Given the description of an element on the screen output the (x, y) to click on. 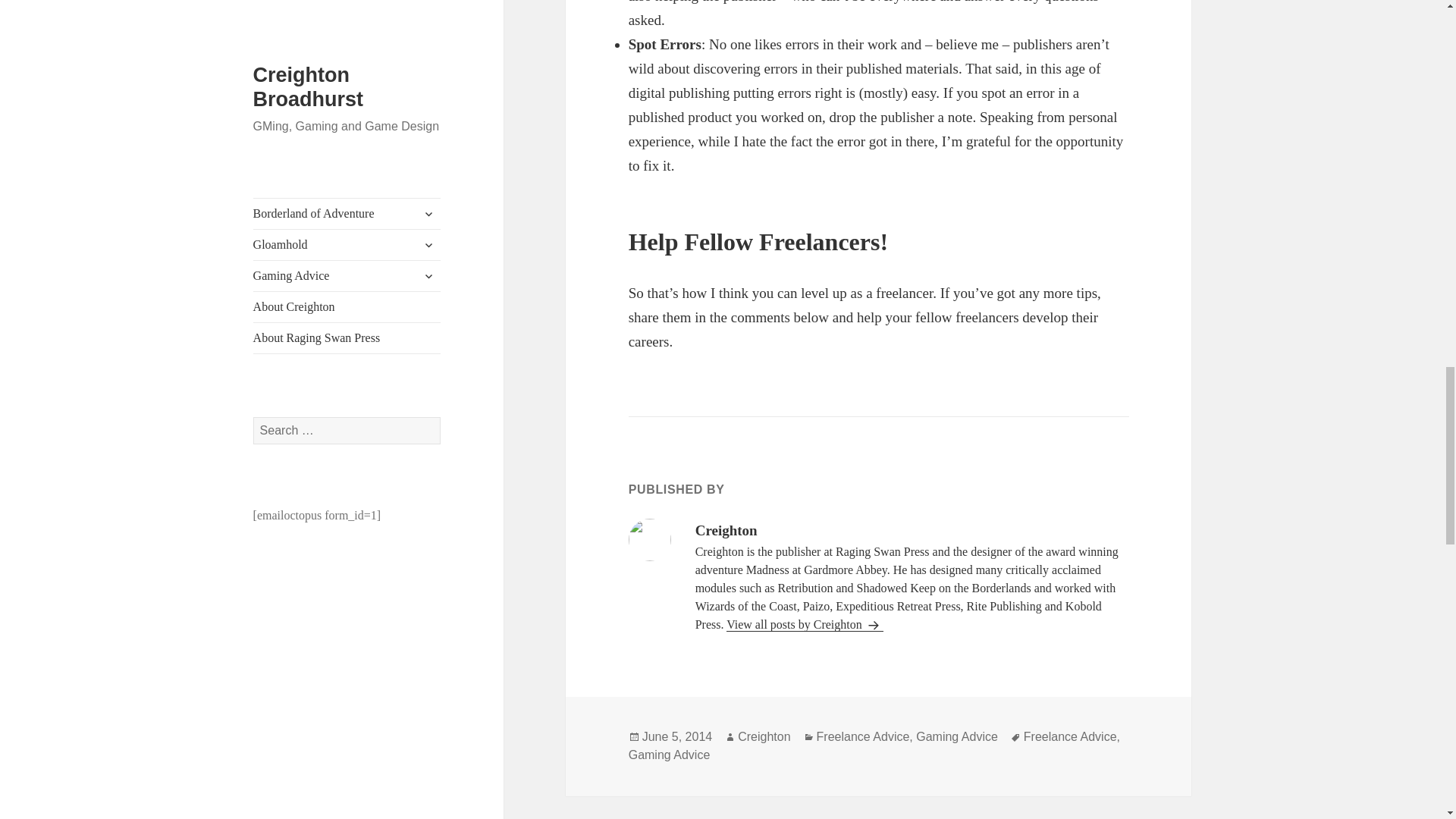
Gaming Advice (956, 736)
Gaming Advice (669, 755)
Creighton (764, 736)
Freelance Advice (863, 736)
Freelance Advice (1069, 736)
June 5, 2014 (677, 736)
View all posts by Creighton (804, 624)
